Given the description of an element on the screen output the (x, y) to click on. 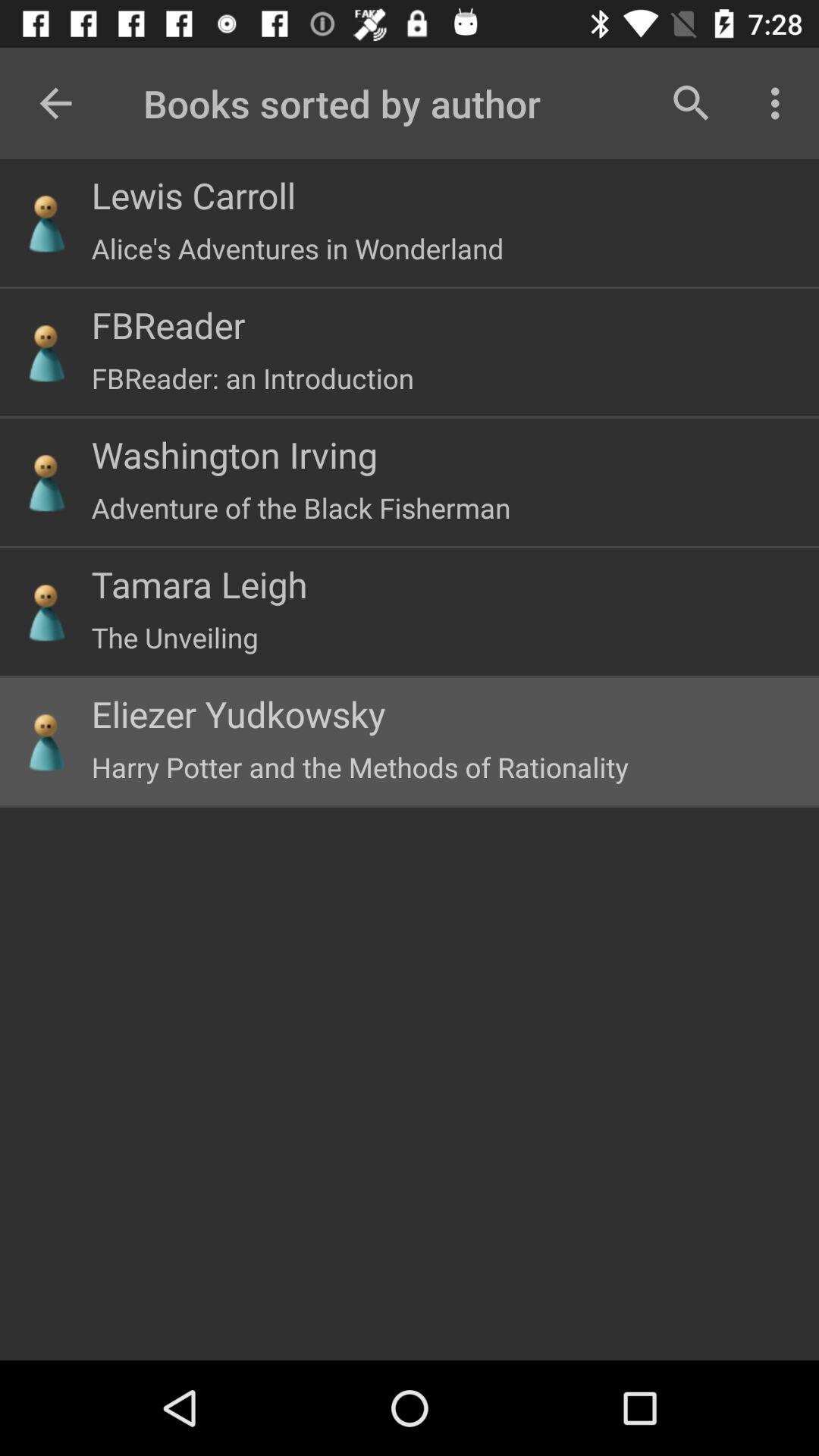
click the icon above the fbreader icon (297, 248)
